Given the description of an element on the screen output the (x, y) to click on. 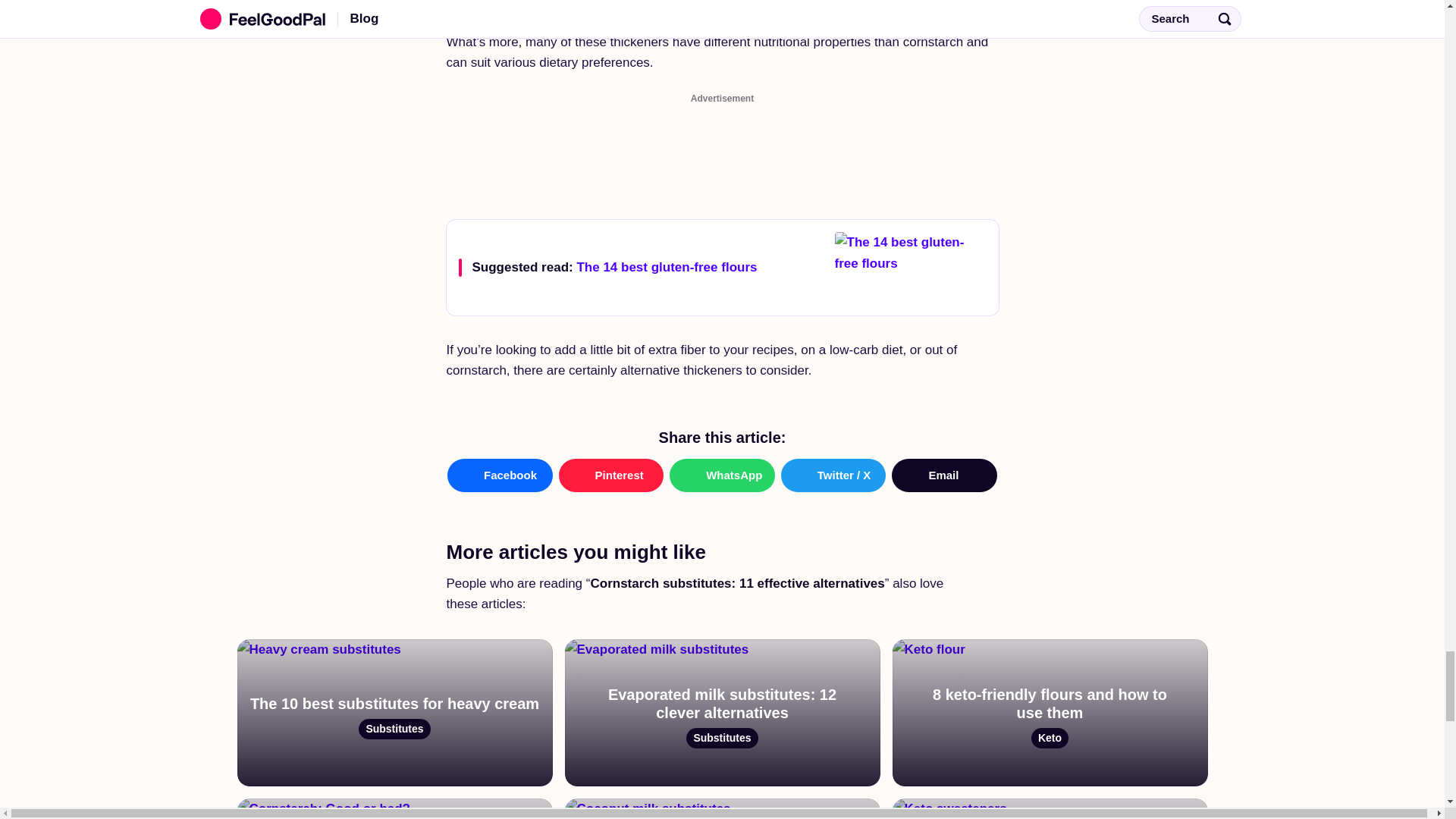
WhatsApp (1049, 712)
Email (721, 267)
Facebook (721, 475)
Pinterest (944, 475)
